Given the description of an element on the screen output the (x, y) to click on. 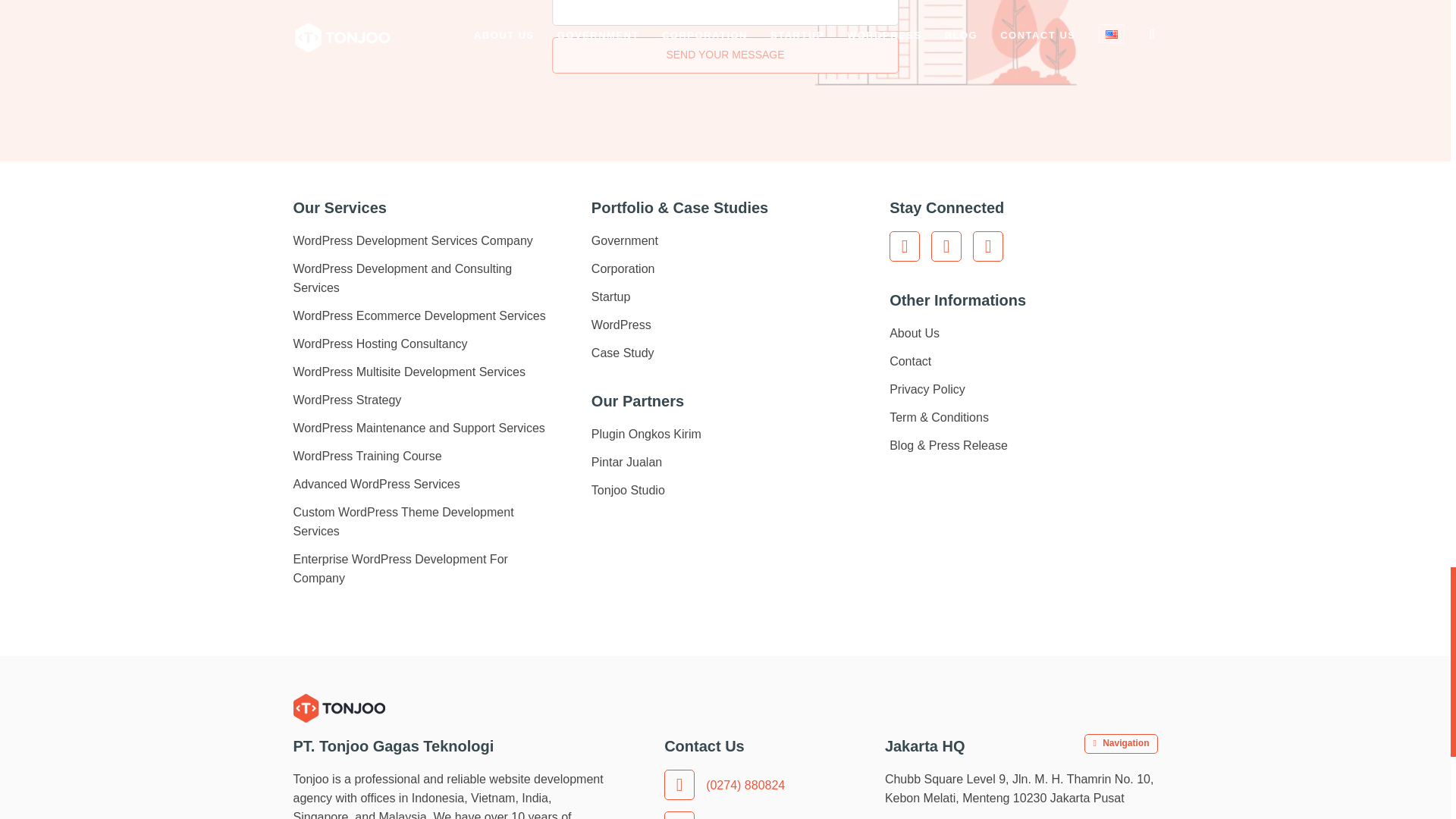
Corporation (623, 268)
Enterprise WordPress Development For Company (399, 568)
Case Study (622, 352)
Advanced WordPress Services (376, 483)
Send your message (725, 54)
WordPress Development and Consulting Services (402, 278)
WordPress Maintenance and Support Services (418, 427)
WordPress Strategy (346, 399)
WordPress Development Services Company (412, 240)
WordPress (620, 324)
Send your message (725, 54)
WordPress Hosting Consultancy (379, 343)
WordPress Multisite Development Services (408, 371)
Custom WordPress Theme Development Services (402, 521)
WordPress Hosting Consultancy (379, 343)
